Given the description of an element on the screen output the (x, y) to click on. 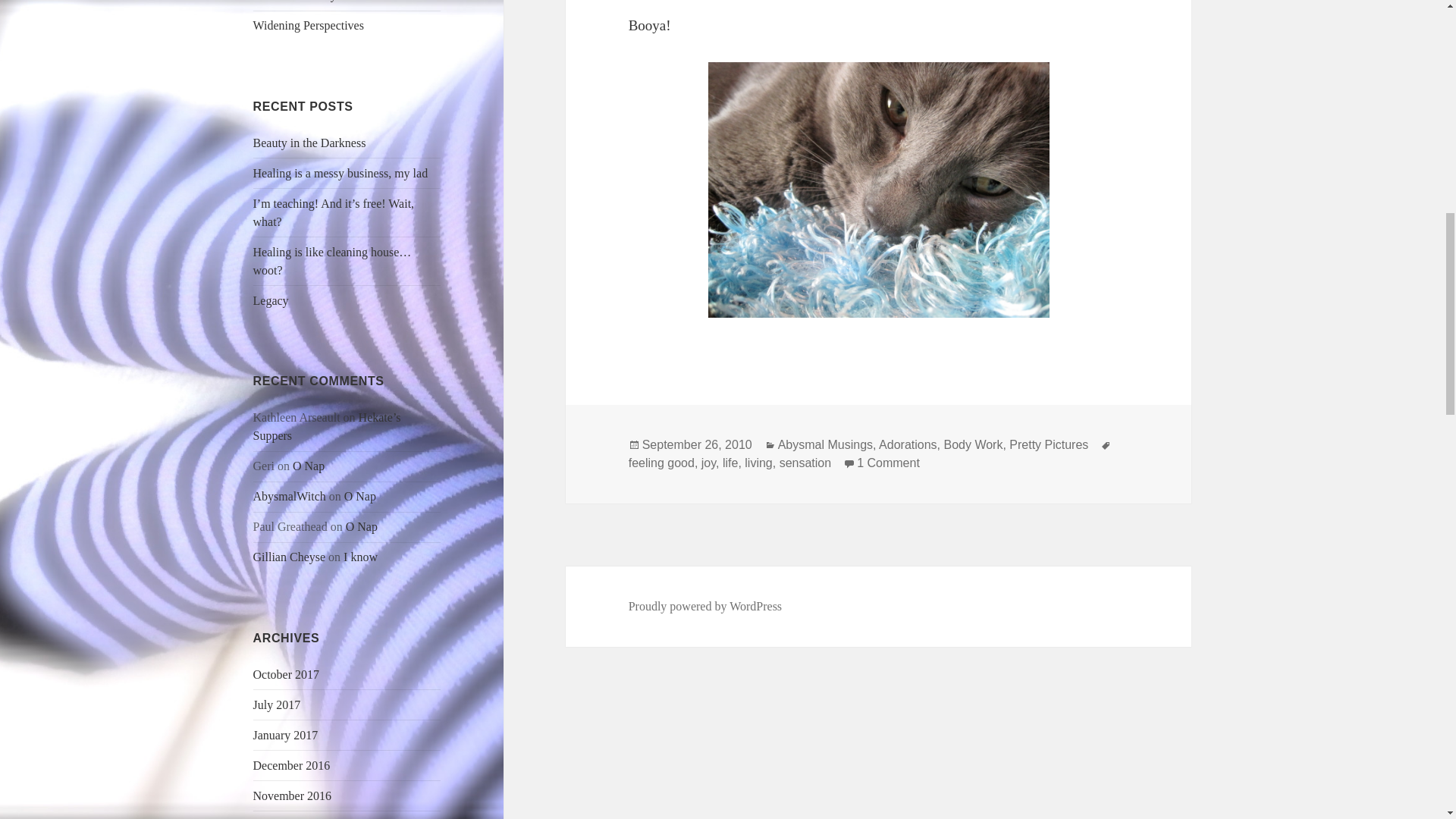
November 2016 (292, 795)
Healing is a messy business, my lad (340, 173)
AbysmalWitch (289, 495)
O Nap (308, 465)
January 2017 (285, 735)
July 2017 (277, 704)
Beauty in the Darkness (309, 142)
Those Other Days (296, 0)
Legacy (270, 300)
I know (360, 556)
O Nap (361, 526)
October 2017 (286, 674)
December 2016 (291, 765)
1009 mason on blue (878, 190)
Widening Perspectives (308, 24)
